Given the description of an element on the screen output the (x, y) to click on. 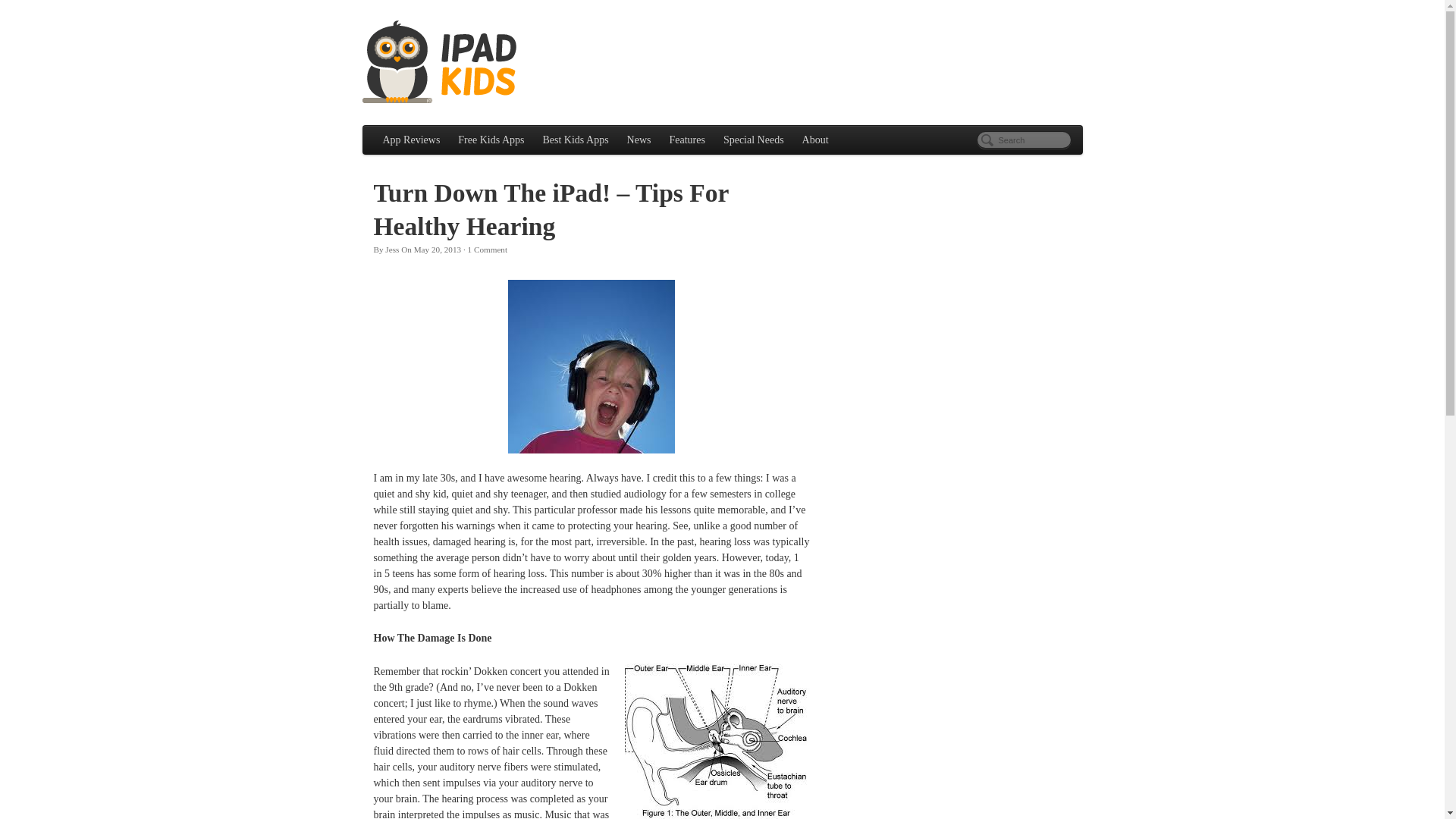
Features (686, 140)
News (639, 140)
Special Needs (753, 140)
1 Comment (487, 248)
Free Kids Apps (490, 140)
Posts by Jess (391, 248)
About (815, 140)
iPad Kids (440, 62)
App Reviews (410, 140)
Kids App Reviews (410, 140)
